Given the description of an element on the screen output the (x, y) to click on. 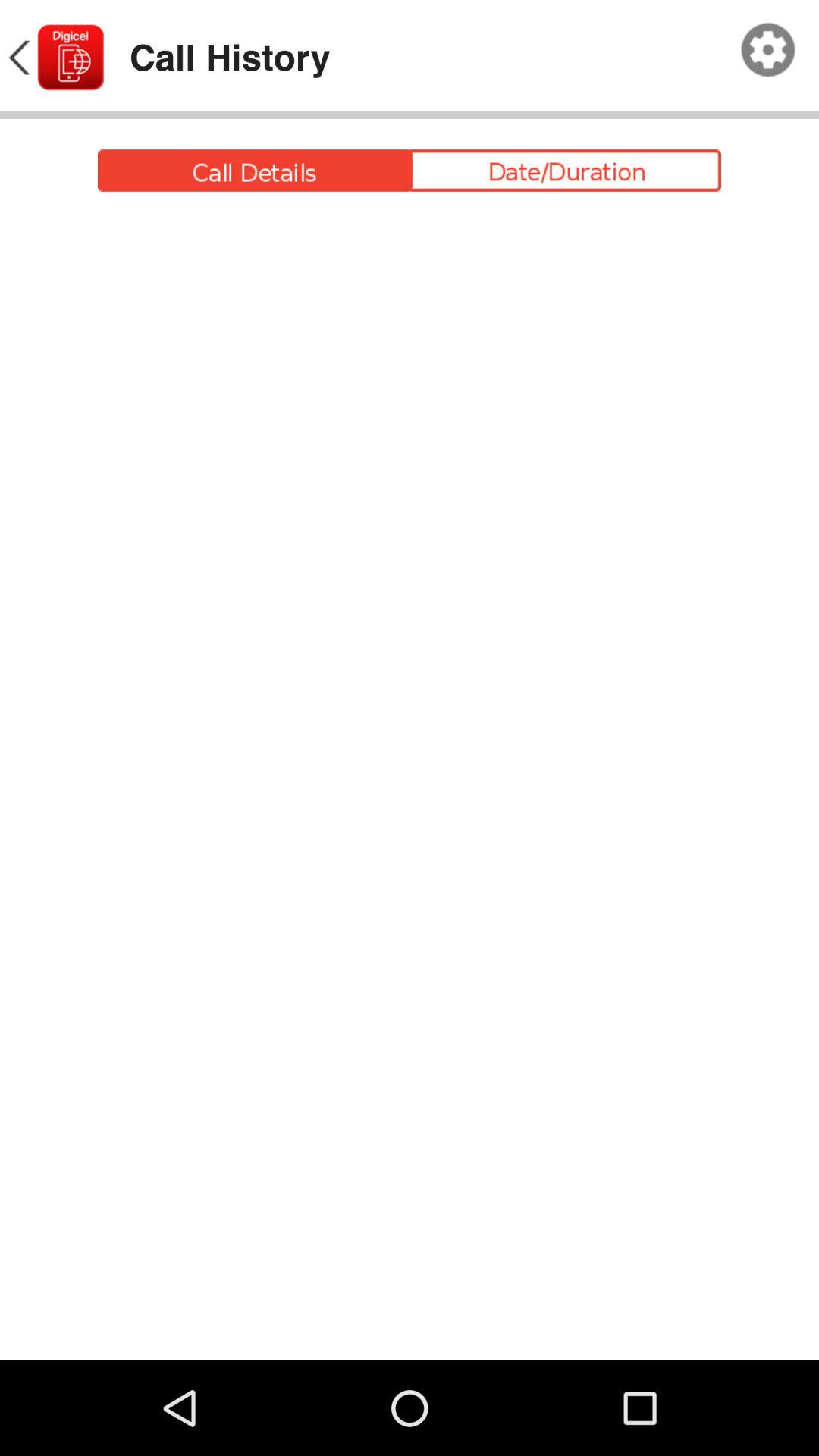
turn off the item at the top right corner (768, 49)
